Given the description of an element on the screen output the (x, y) to click on. 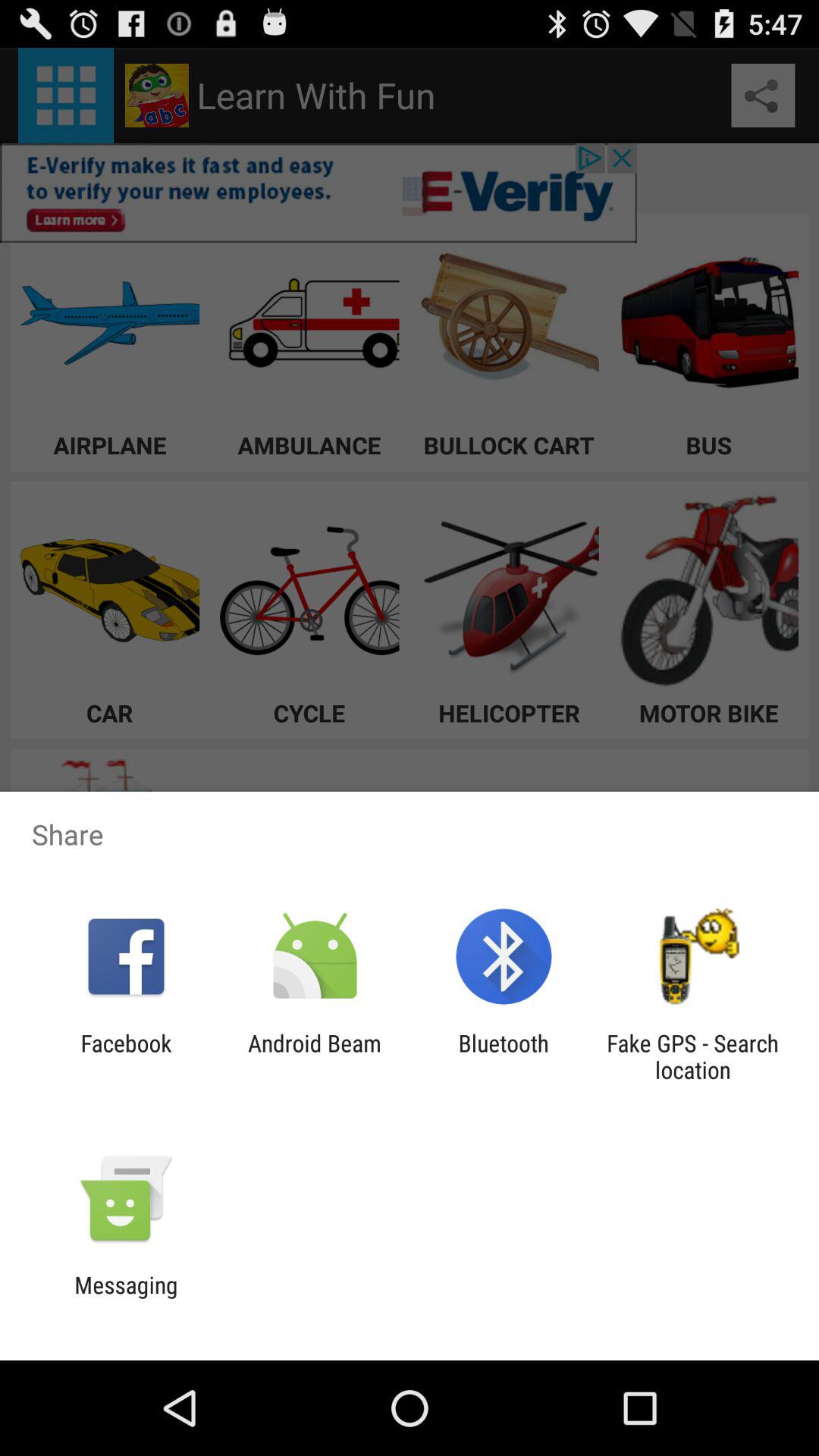
launch the item next to the android beam item (503, 1056)
